Given the description of an element on the screen output the (x, y) to click on. 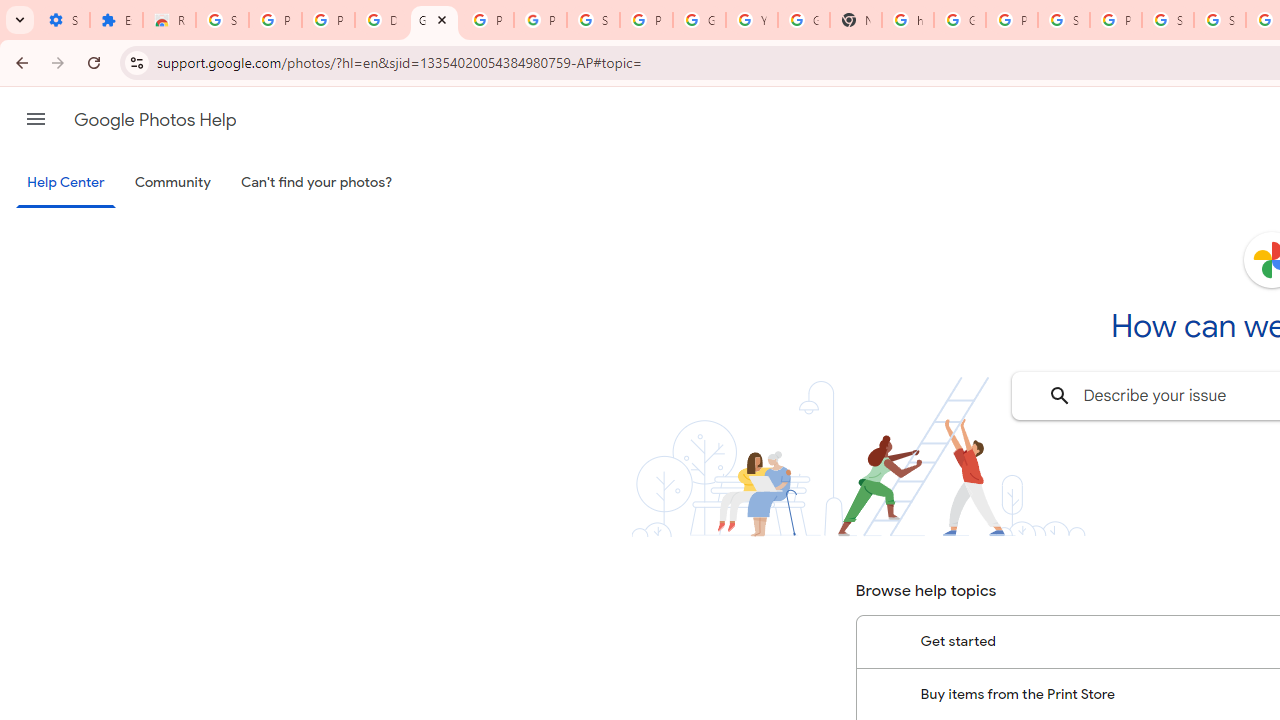
https://scholar.google.com/ (907, 20)
Google Photos Help (434, 20)
